Given the description of an element on the screen output the (x, y) to click on. 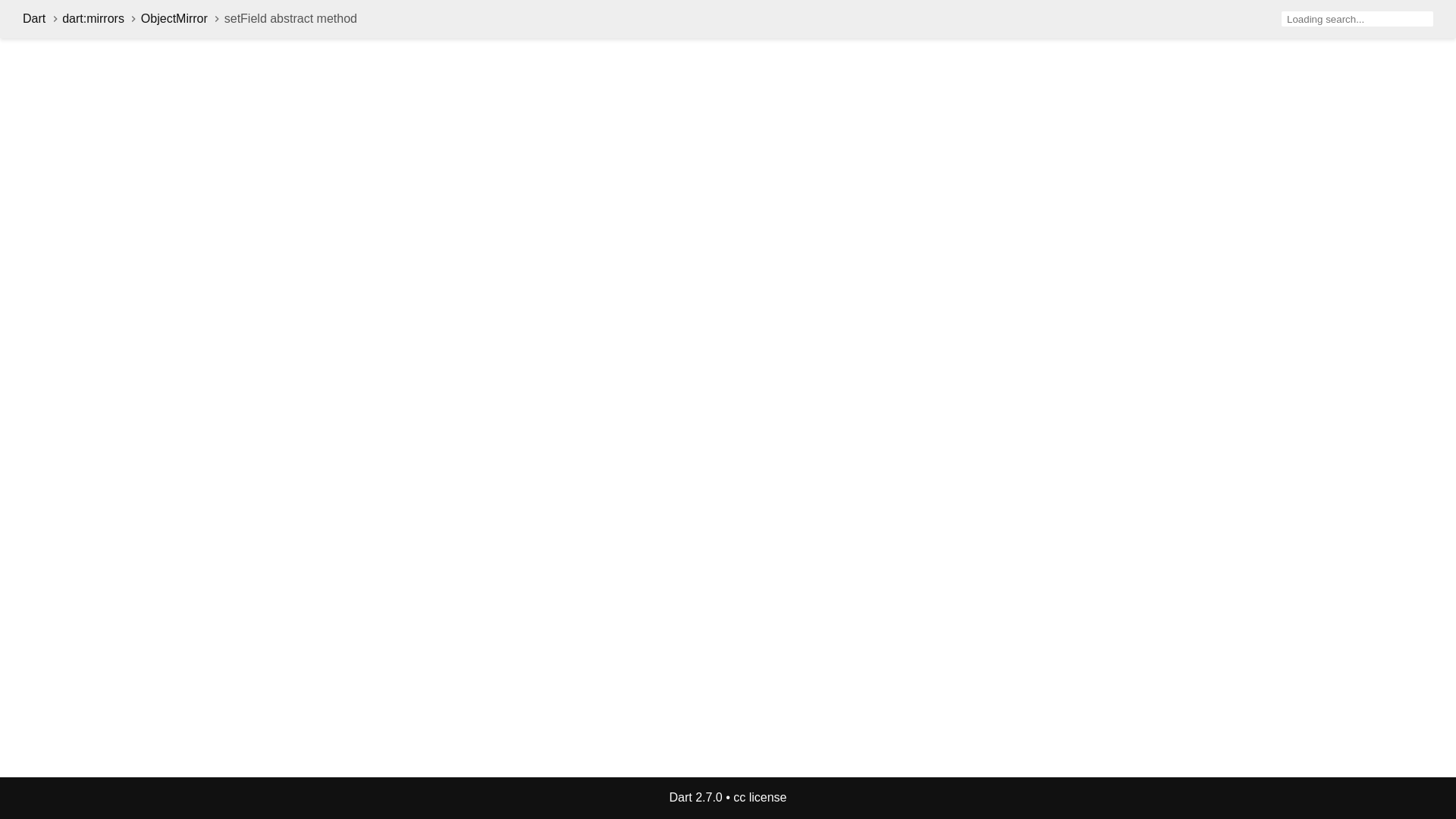
dart:mirrors (92, 18)
ObjectMirror (174, 18)
cc license (759, 797)
Dart (34, 18)
